Given the description of an element on the screen output the (x, y) to click on. 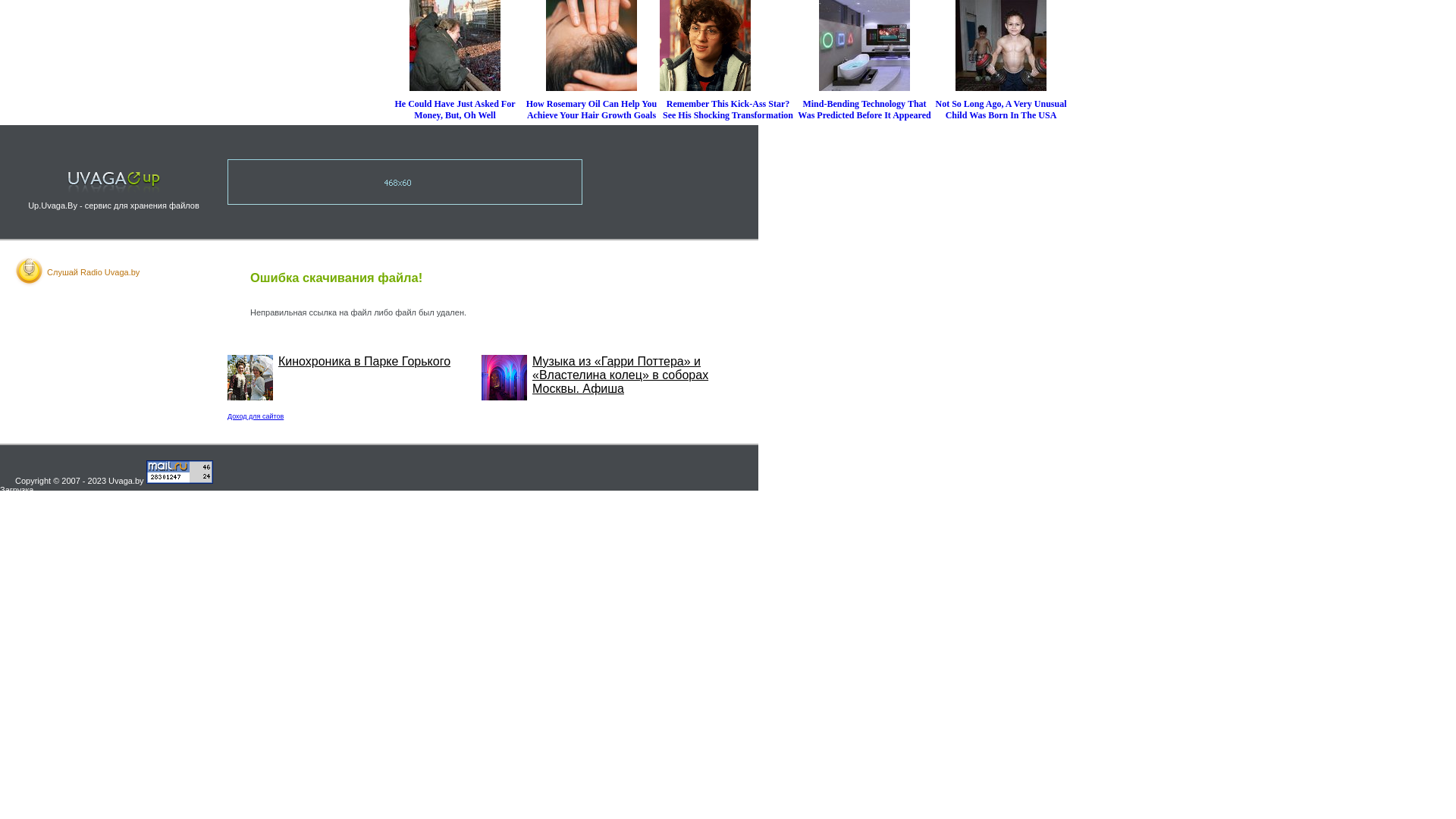
Up.Uvaga.By Element type: text (52, 205)
Uvaga.by Element type: text (125, 480)
